Given the description of an element on the screen output the (x, y) to click on. 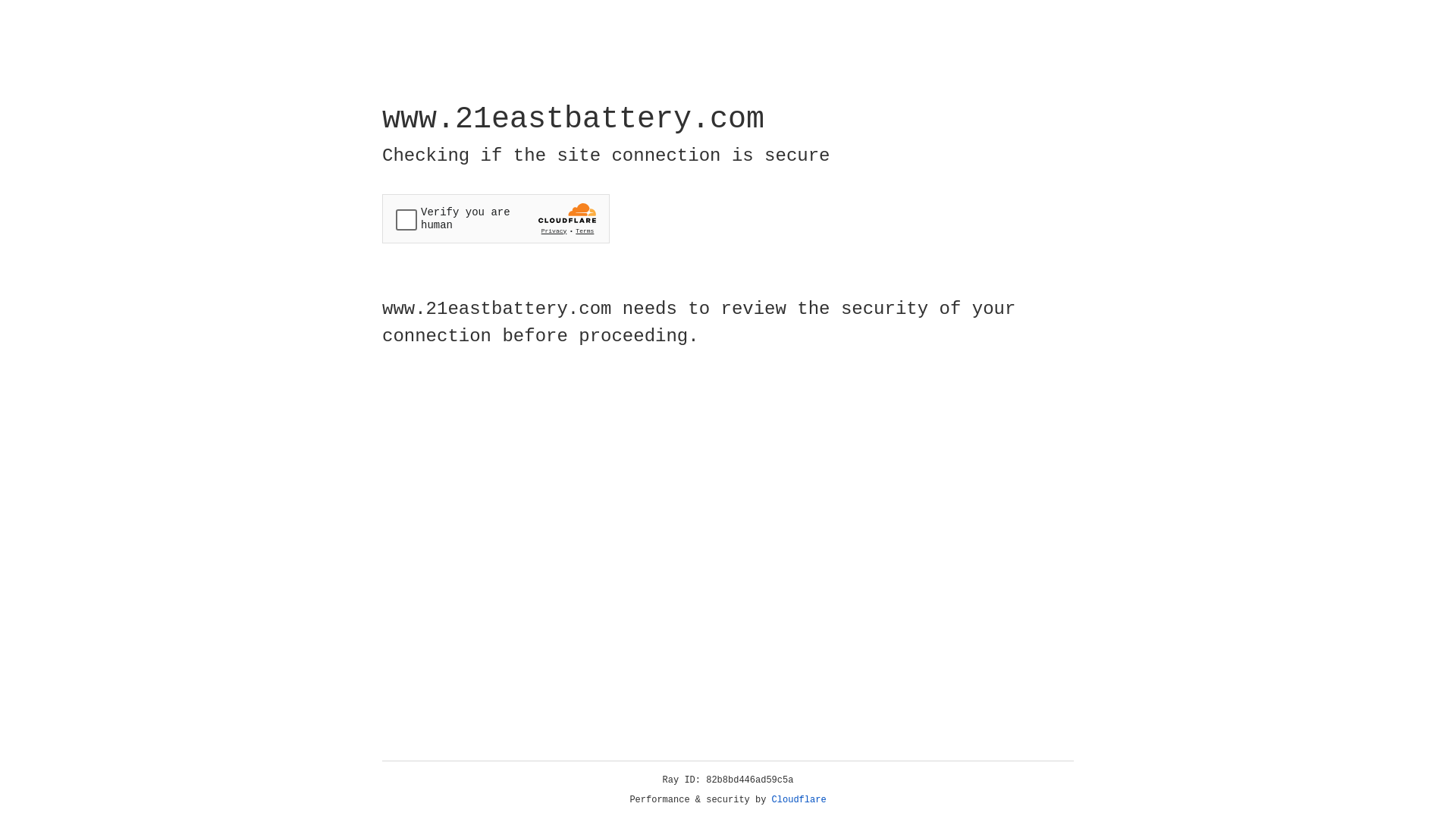
Cloudflare Element type: text (798, 799)
Widget containing a Cloudflare security challenge Element type: hover (495, 218)
